Given the description of an element on the screen output the (x, y) to click on. 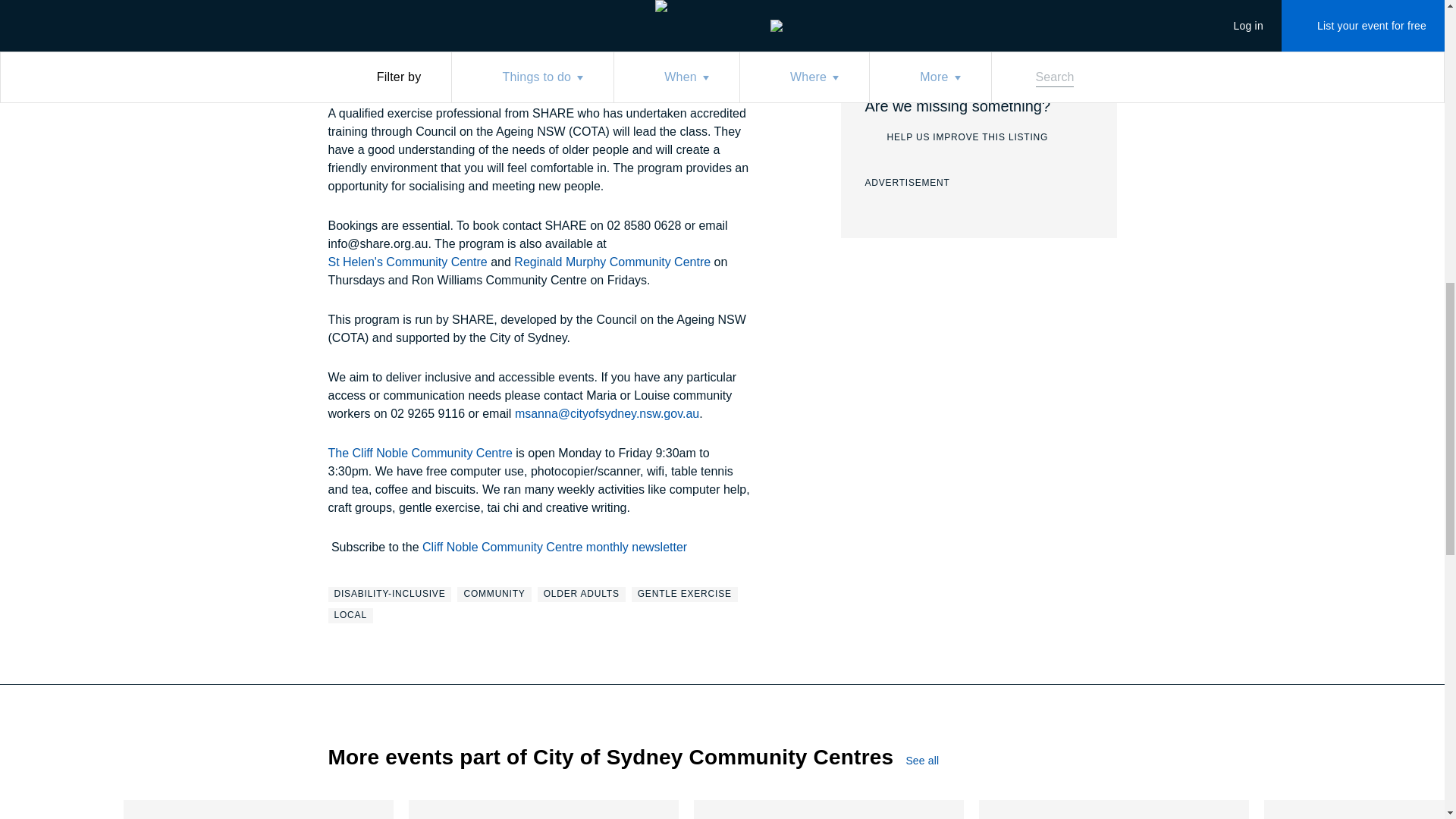
St Helen's Community Centre (406, 262)
Disability-inclusive (389, 594)
The Cliff Noble Community Centre (419, 453)
See all (935, 760)
Community (494, 594)
DISABILITY-INCLUSIVE (956, 137)
GENTLE EXERCISE (389, 594)
Hatha yoga lunchtime class (684, 594)
LOCAL (542, 809)
Reginald Murphy Community Centre (349, 615)
OLDER ADULTS (611, 262)
COMMUNITY (581, 594)
Fitness class for older adults (494, 594)
Cliff Noble Community Centre monthly newsletter (257, 809)
